Given the description of an element on the screen output the (x, y) to click on. 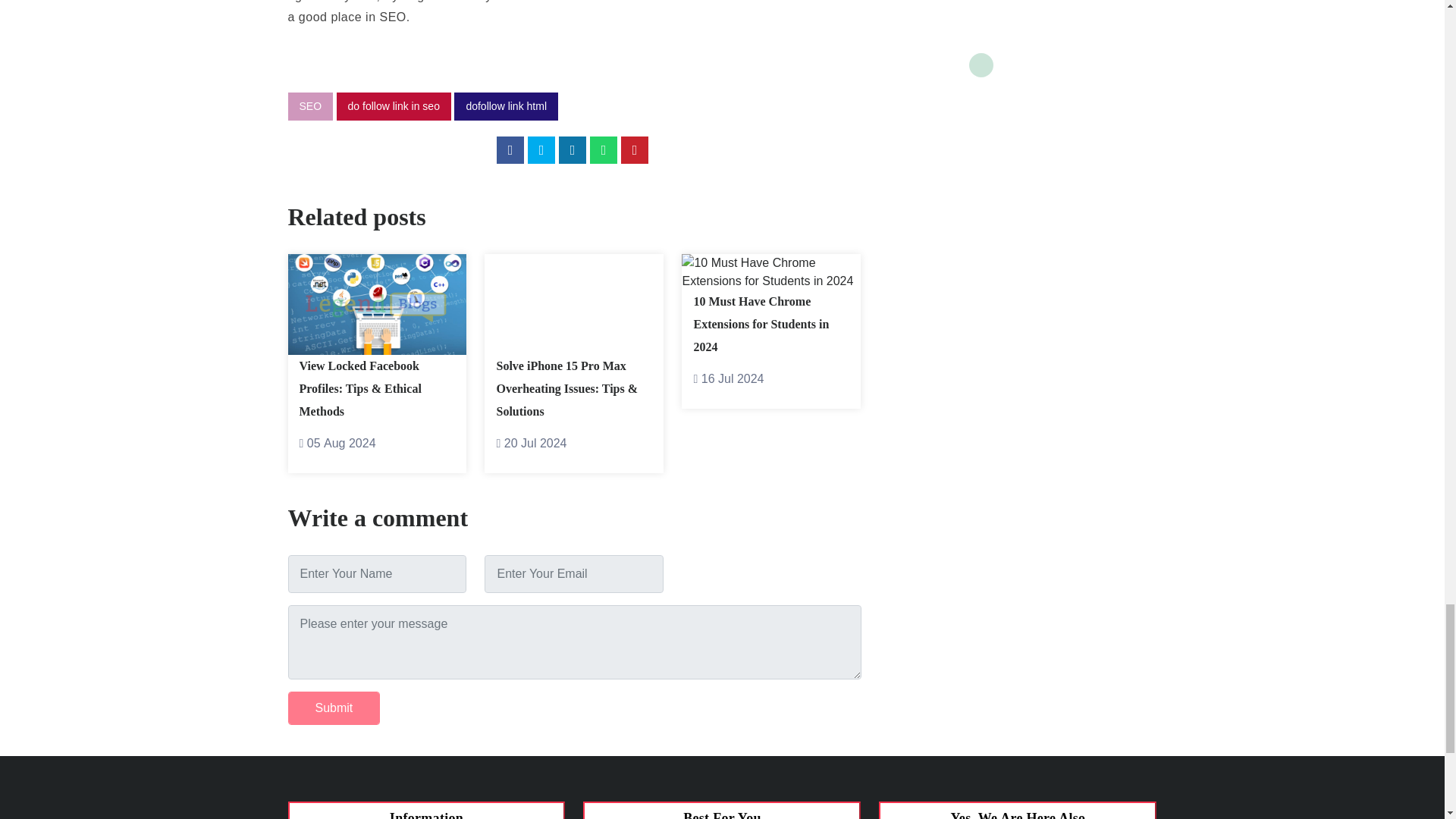
Submit Your Message! (334, 707)
dofollow link html (505, 106)
SEO (310, 106)
do follow link in seo (393, 106)
